Given the description of an element on the screen output the (x, y) to click on. 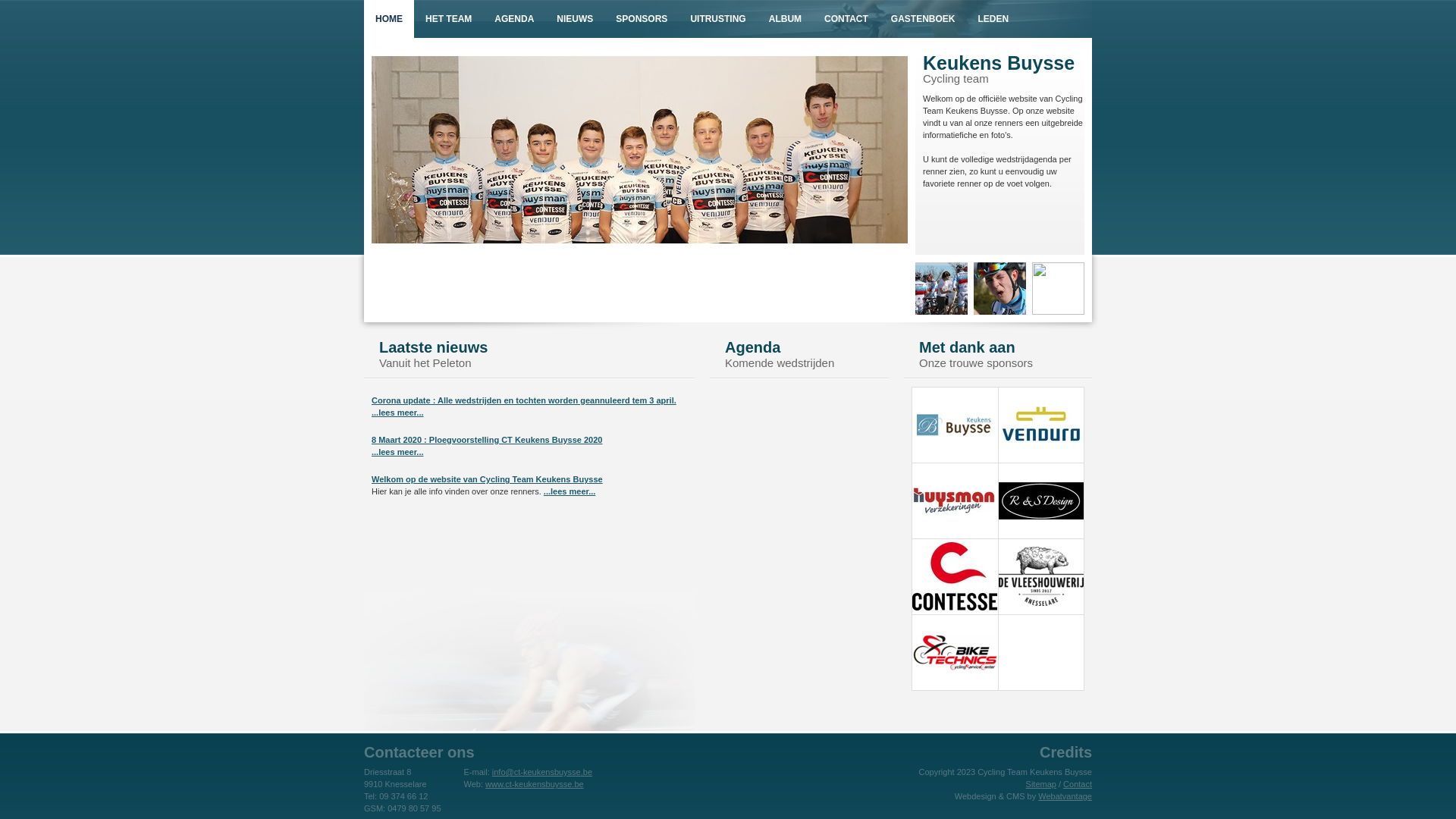
Webatvantage Element type: text (1065, 795)
Welkom op de website van Cycling Team Keukens Buysse Element type: text (486, 478)
SPONSORS Element type: text (641, 18)
Bezoek de website van Venduro Element type: hover (1039, 459)
Bezoek de website van Bike Technics Element type: hover (954, 686)
www.ct-keukensbuysse.be Element type: text (534, 783)
HOME Element type: text (389, 18)
Sitemap Element type: text (1041, 783)
Bezoek de website van Keukens Buysse Christian Element type: hover (954, 459)
...lees meer... Element type: text (397, 451)
CONTACT Element type: text (845, 18)
ALBUM Element type: text (784, 18)
info@ct-keukensbuysse.be Element type: text (542, 771)
LEDEN Element type: text (993, 18)
Contact Element type: text (1077, 783)
Bezoek de website van R&S Design Element type: hover (1039, 534)
UITRUSTING Element type: text (717, 18)
8 Maart 2020 : Ploegvoorstelling CT Keukens Buysse 2020 Element type: text (486, 439)
Bezoek de website van De Vleeshouwerij Element type: hover (1039, 610)
NIEUWS Element type: text (574, 18)
...lees meer... Element type: text (397, 412)
GASTENBOEK Element type: text (922, 18)
Bezoek de website van Contesse Element type: hover (954, 610)
...lees meer... Element type: text (569, 490)
HET TEAM Element type: text (448, 18)
AGENDA Element type: text (514, 18)
Bezoek de website van Huysman Element type: hover (954, 534)
